Given the description of an element on the screen output the (x, y) to click on. 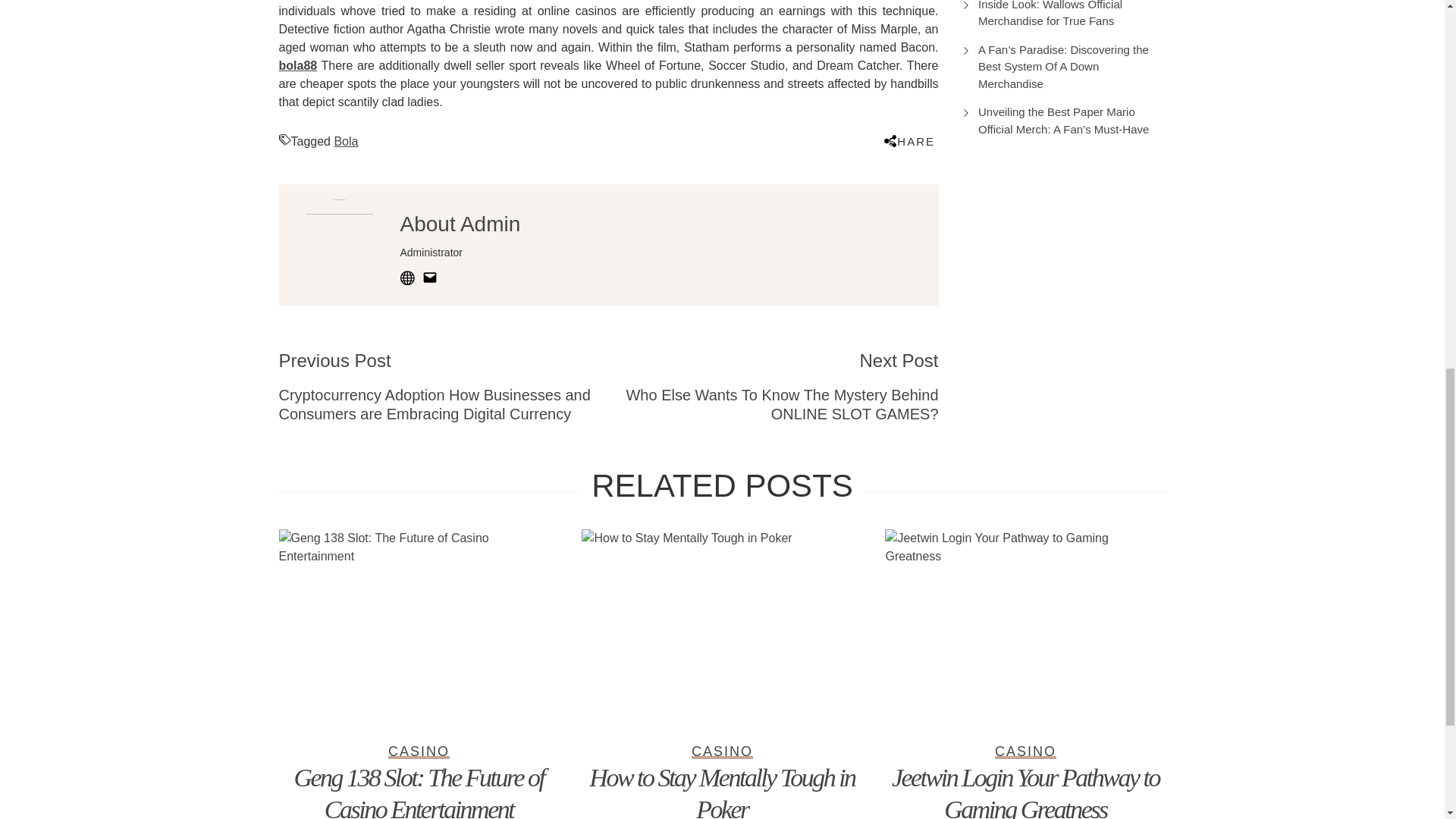
About Admin (460, 223)
bola88 (298, 65)
Bola (345, 141)
